Given the description of an element on the screen output the (x, y) to click on. 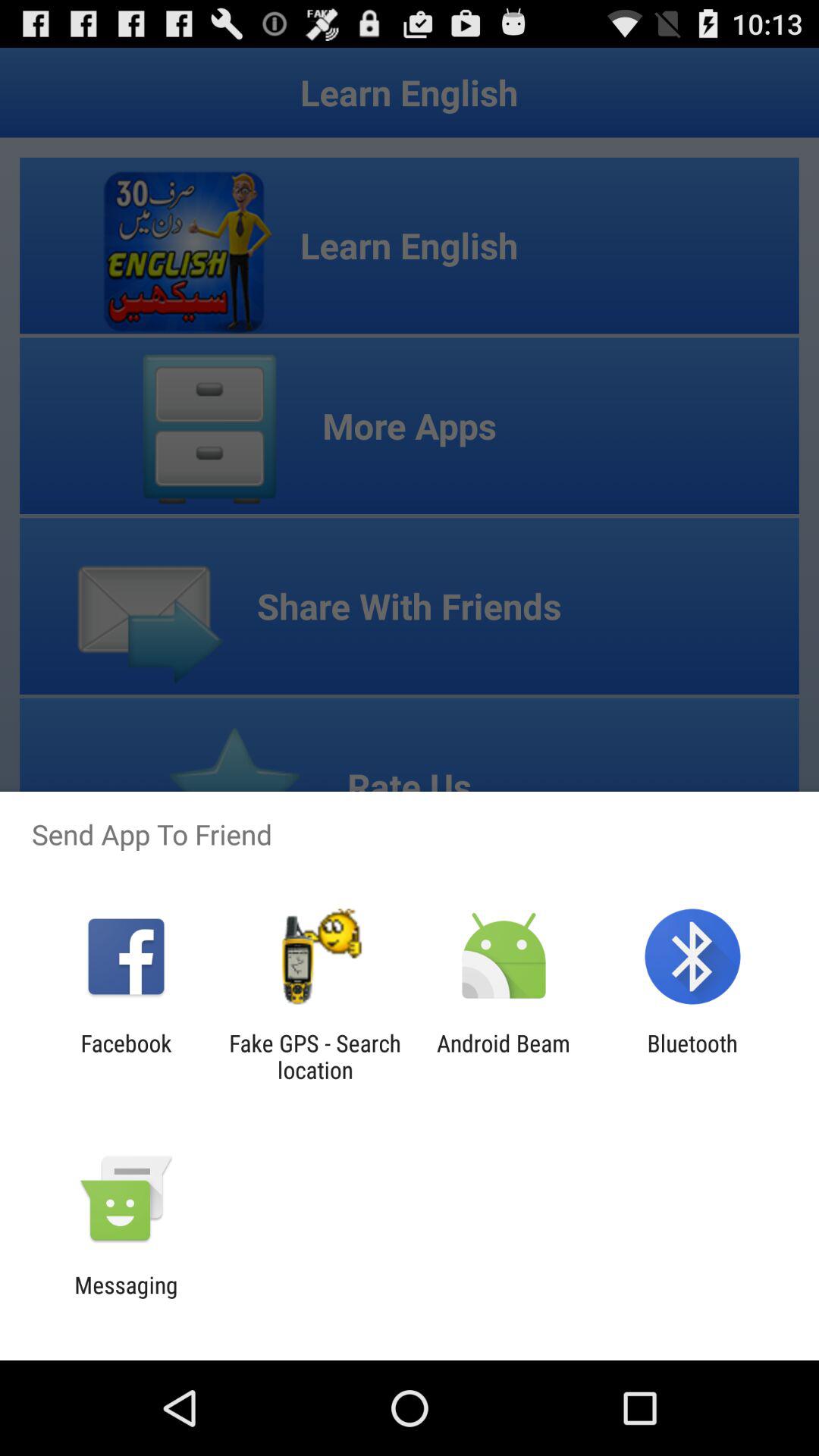
choose the item to the right of fake gps search app (503, 1056)
